Given the description of an element on the screen output the (x, y) to click on. 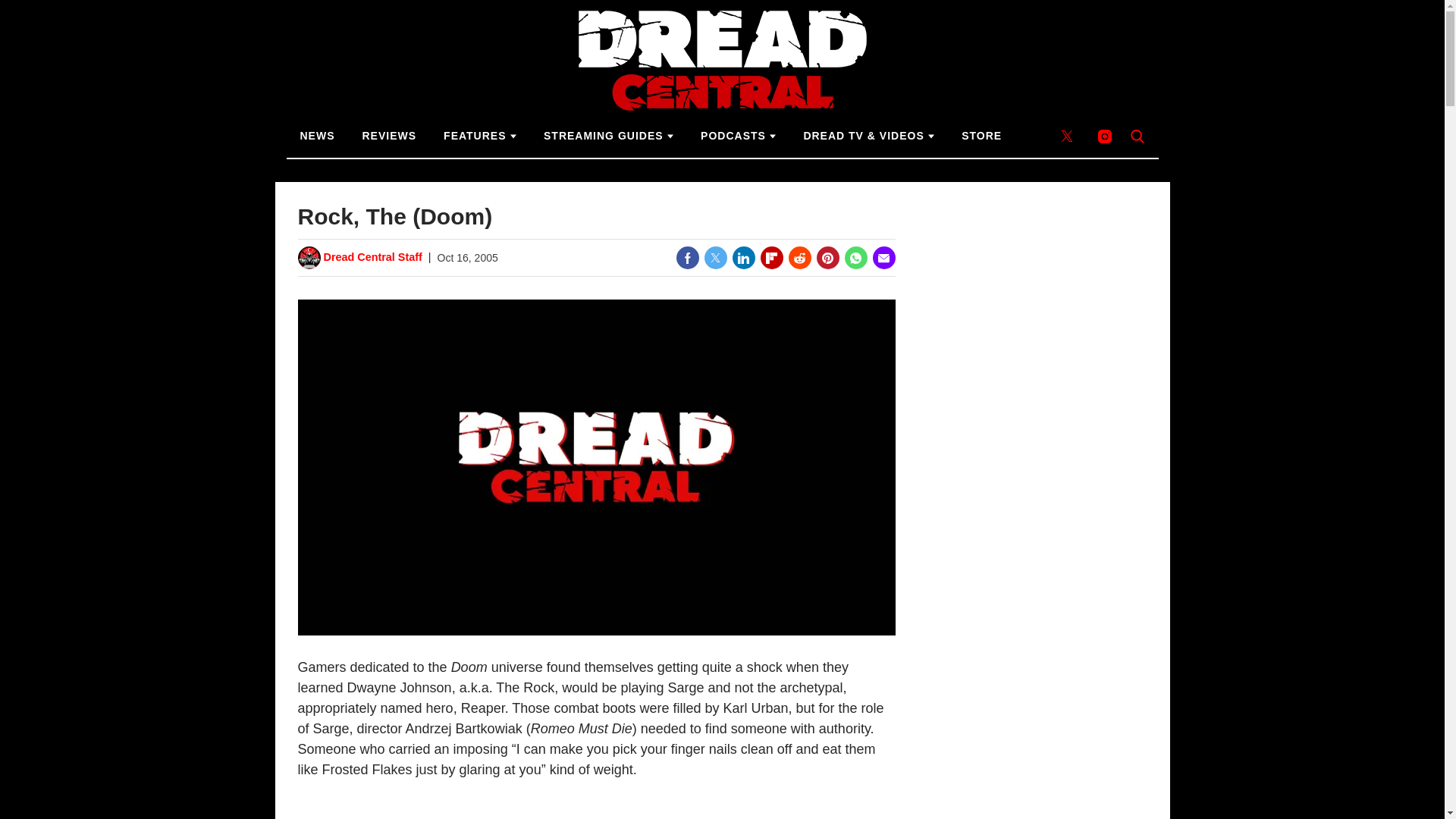
Dread Central Staff (372, 257)
Share on Facebook (687, 257)
Share on Pinterest (826, 257)
Share on Flipboard (771, 257)
Posts by Dread Central Staff (372, 257)
Share on LinkedIn (743, 257)
STORE (980, 136)
PODCASTS (738, 136)
STREAMING GUIDES (608, 136)
FEATURES (479, 136)
REVIEWS (389, 136)
Share on Reddit (799, 257)
NEWS (317, 136)
Share on Twitter (714, 257)
